Given the description of an element on the screen output the (x, y) to click on. 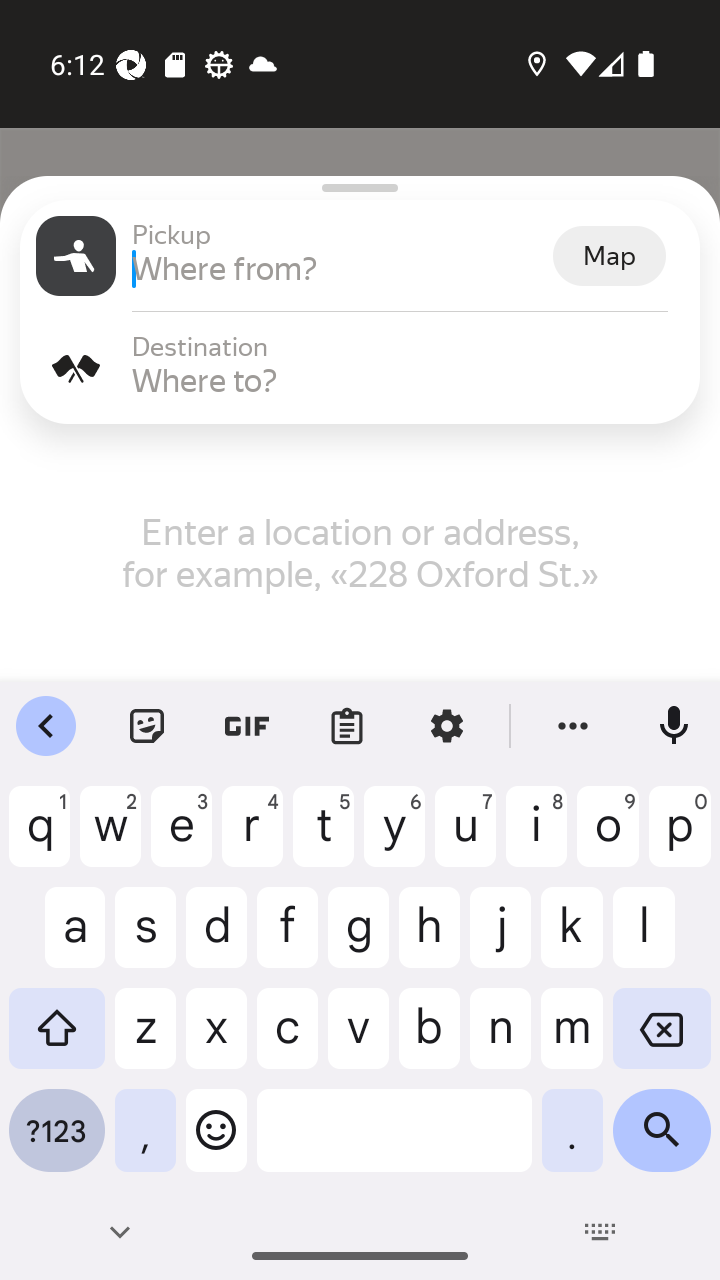
Pickup Pickup Where from? Map (359, 255)
Map (609, 256)
Where from? (340, 268)
Destination Destination Where to? (359, 367)
Where to? (407, 380)
